Given the description of an element on the screen output the (x, y) to click on. 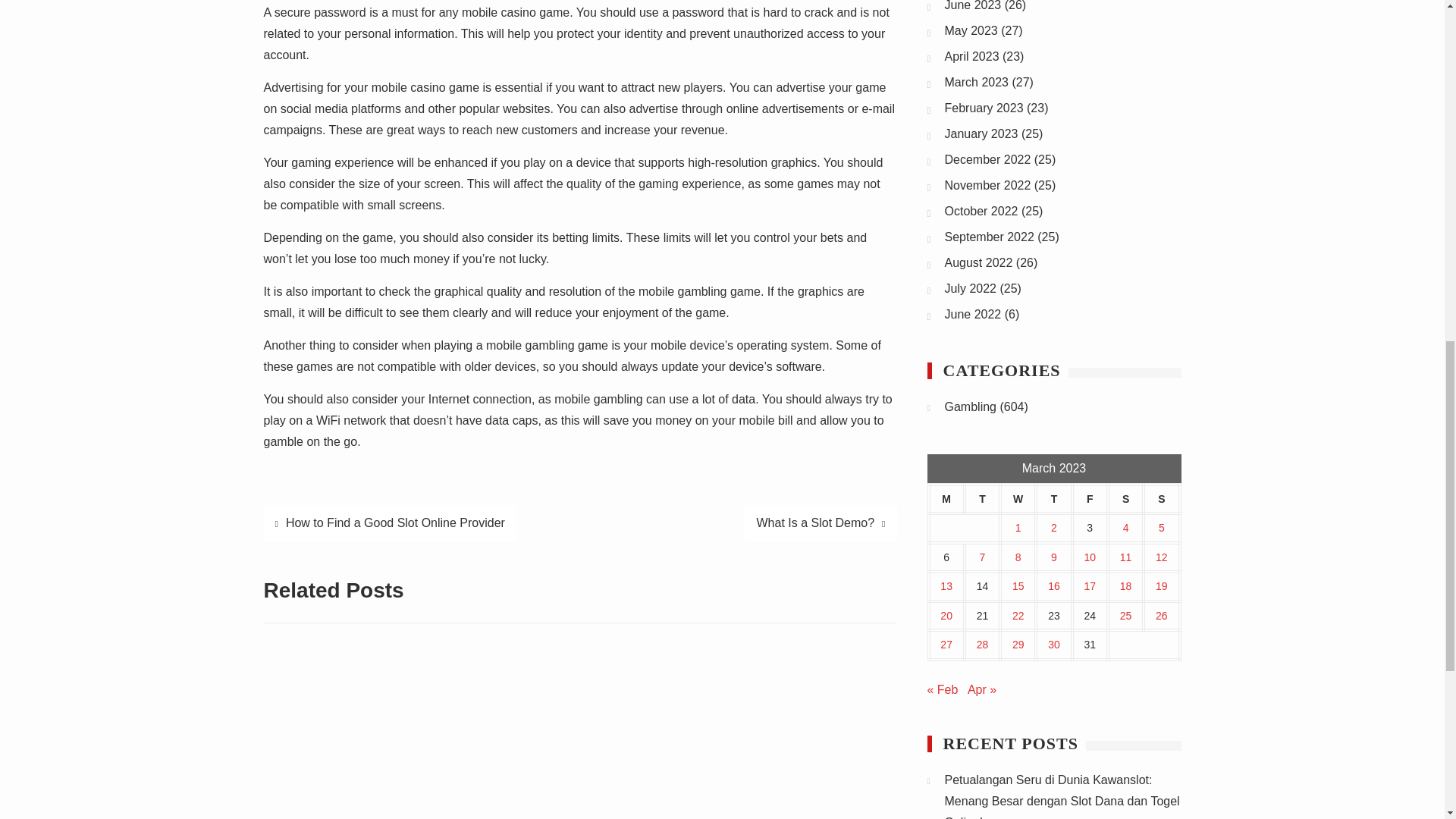
Thursday (1053, 499)
Wednesday (1017, 499)
Friday (1089, 499)
Saturday (1125, 499)
How to Find a Good Slot Online Provider (389, 523)
June 2023 (972, 5)
Monday (945, 499)
What Is a Slot Demo? (820, 523)
Tuesday (981, 499)
Sunday (1160, 499)
